Given the description of an element on the screen output the (x, y) to click on. 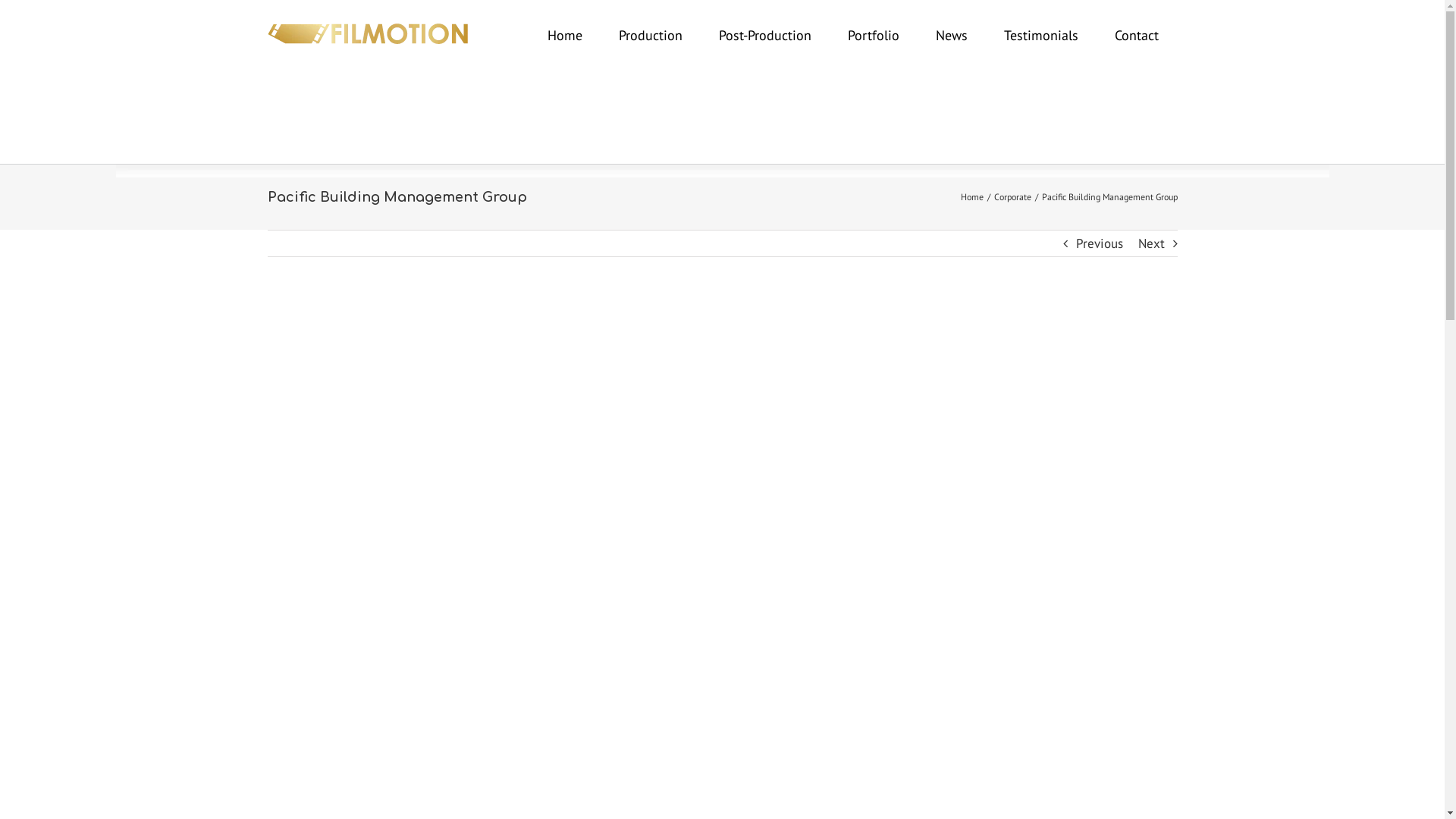
PBMG Finalised Element type: hover (721, 558)
Home Element type: text (971, 196)
News Element type: text (951, 35)
Next Element type: text (1150, 243)
Production Element type: text (650, 35)
Previous Element type: text (1098, 243)
Corporate Element type: text (1011, 196)
Home Element type: text (564, 35)
Portfolio Element type: text (873, 35)
Testimonials Element type: text (1041, 35)
Contact Element type: text (1136, 35)
Post-Production Element type: text (764, 35)
